Given the description of an element on the screen output the (x, y) to click on. 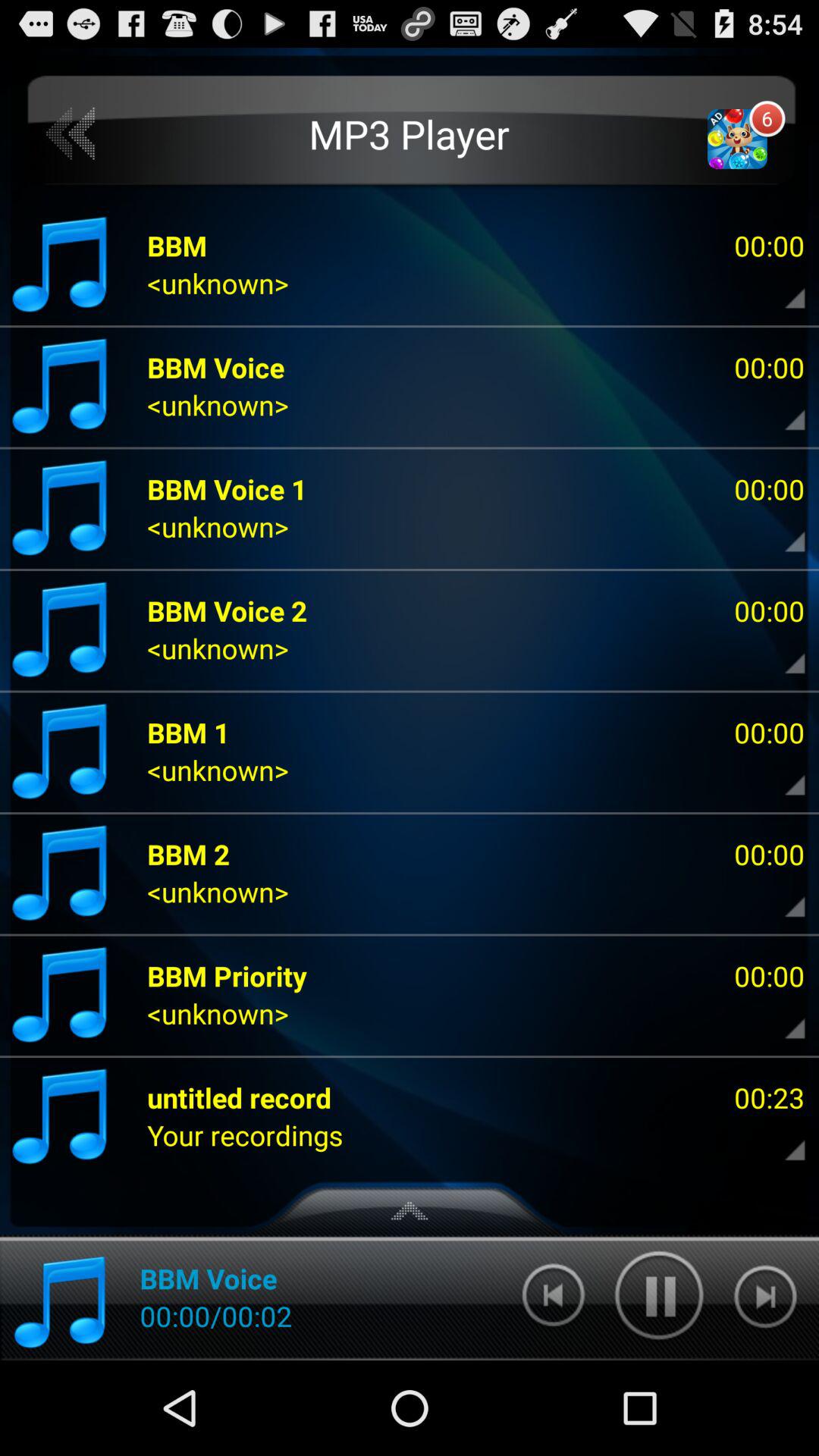
more option (782, 1135)
